Given the description of an element on the screen output the (x, y) to click on. 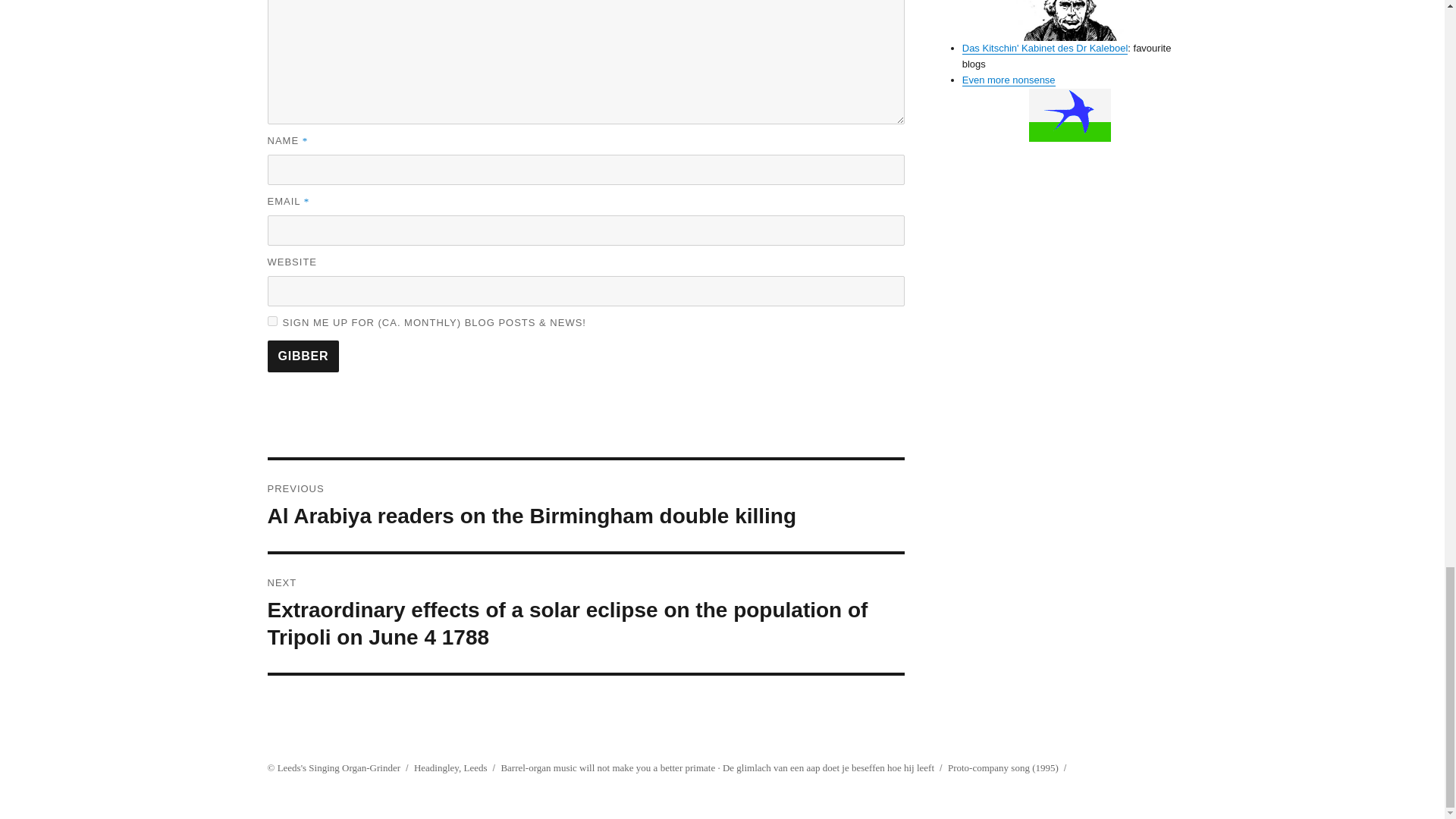
1 (271, 320)
Gibber (302, 356)
